Given the description of an element on the screen output the (x, y) to click on. 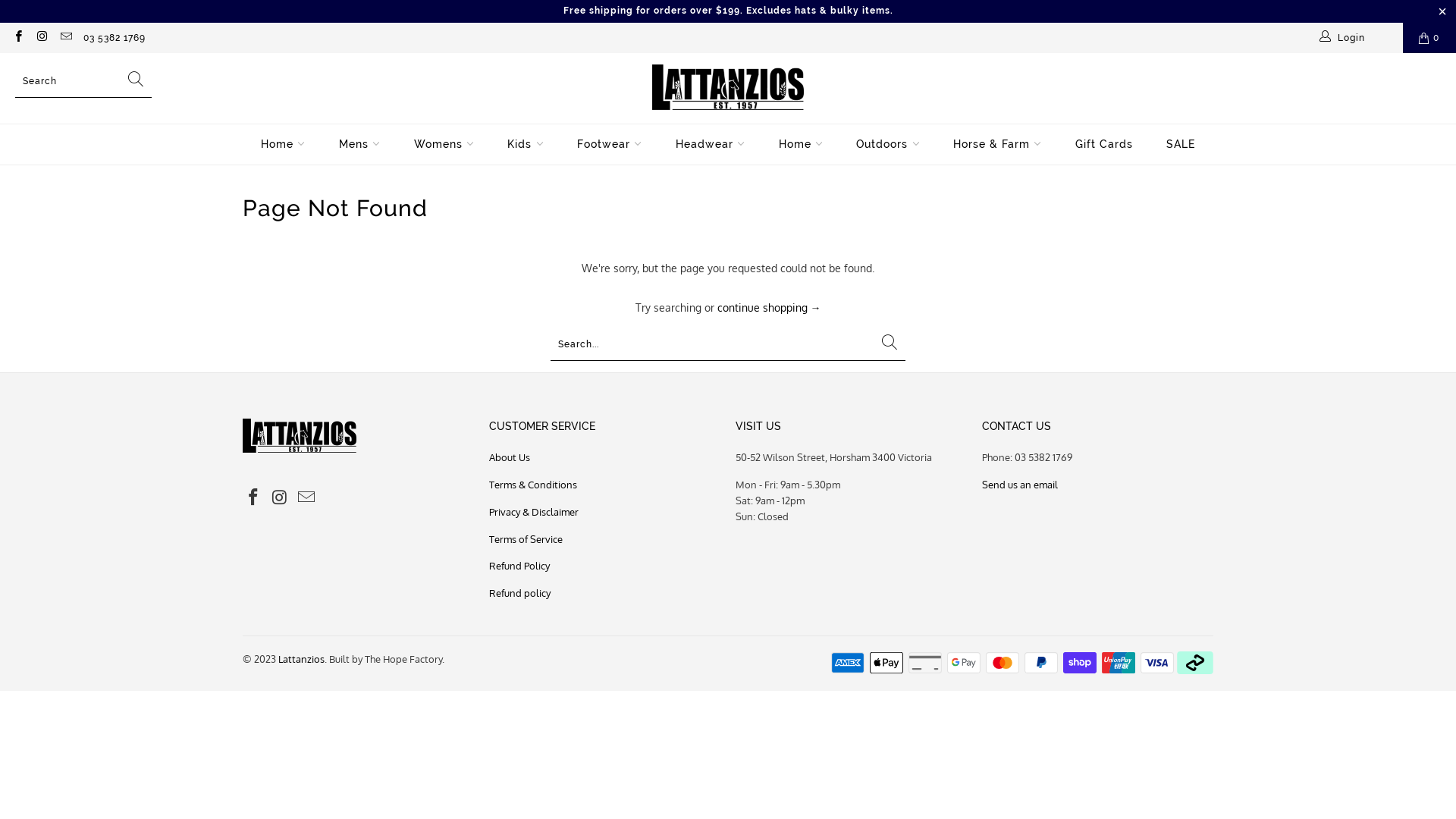
Lattanzios Element type: hover (727, 88)
Lattanzios on Instagram Element type: hover (40, 37)
Email Lattanzios Element type: hover (65, 37)
Home Element type: text (800, 144)
Refund policy Element type: text (519, 592)
Home Element type: text (282, 144)
Lattanzios on Instagram Element type: hover (280, 497)
Email Lattanzios Element type: hover (305, 497)
Outdoors Element type: text (887, 144)
Gift Cards Element type: text (1103, 144)
Horse & Farm Element type: text (997, 144)
SALE Element type: text (1180, 144)
Kids Element type: text (525, 143)
Womens Element type: text (444, 144)
Terms & Conditions Element type: text (533, 484)
Lattanzios on Facebook Element type: hover (253, 497)
Send us an email Element type: text (1019, 484)
Lattanzios Element type: text (301, 658)
About Us Element type: text (509, 457)
Refund Policy Element type: text (519, 565)
Footwear Element type: text (609, 143)
03 5382 1769 Element type: text (114, 37)
Headwear Element type: text (710, 143)
Mens Element type: text (359, 144)
Login Element type: text (1342, 37)
Terms of Service Element type: text (525, 539)
Privacy & Disclaimer Element type: text (533, 511)
Lattanzios on Facebook Element type: hover (17, 37)
